Given the description of an element on the screen output the (x, y) to click on. 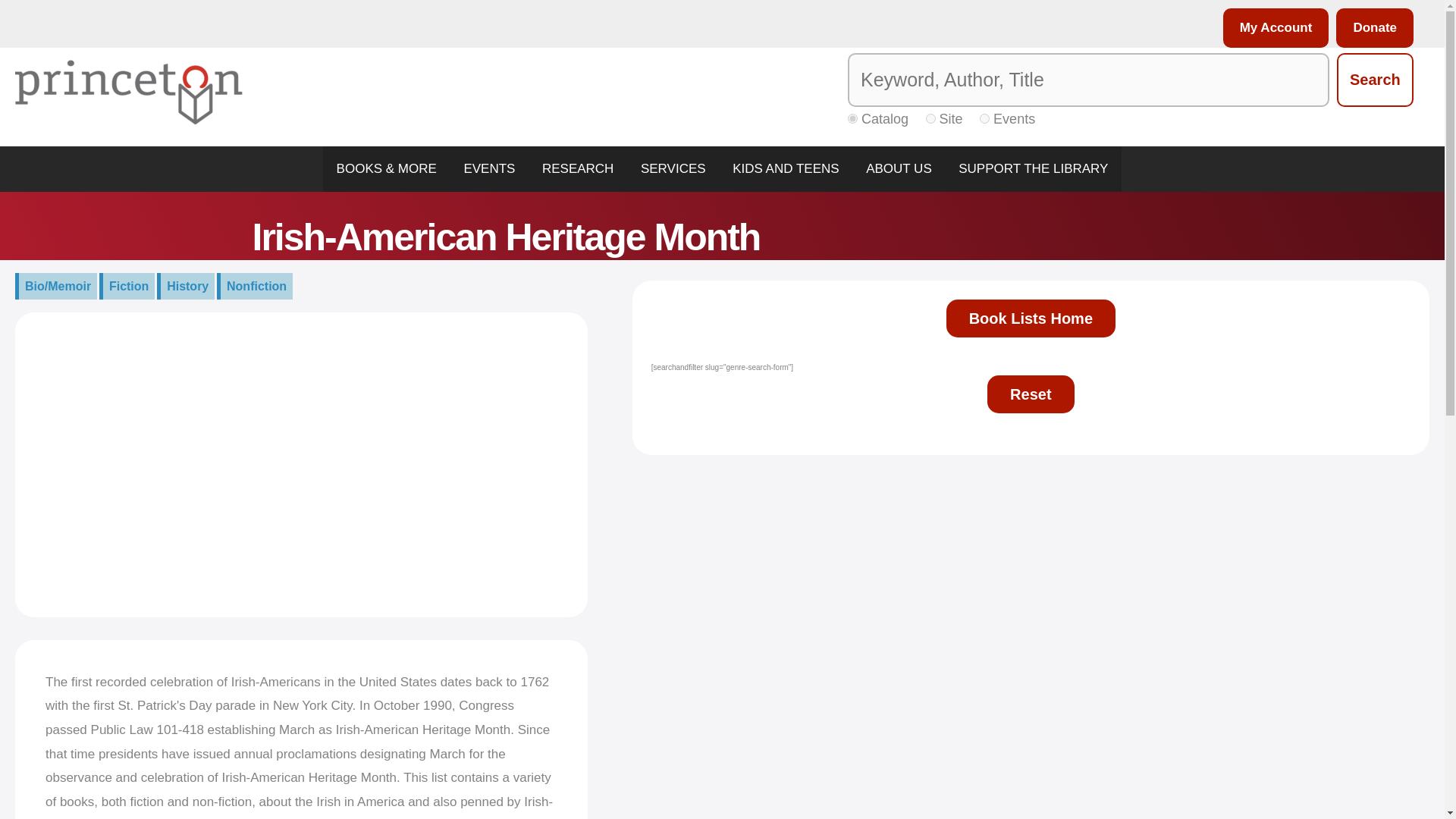
SERVICES (673, 168)
Nonfiction (254, 286)
Fiction (126, 286)
Donate (1371, 27)
My Account (1272, 27)
Search (1374, 80)
RESEARCH (577, 168)
EVENTS (489, 168)
events (984, 118)
ABOUT US (897, 168)
Search (1374, 80)
Reset (1030, 394)
KIDS AND TEENS (785, 168)
catalog (852, 118)
Search (1374, 80)
